Given the description of an element on the screen output the (x, y) to click on. 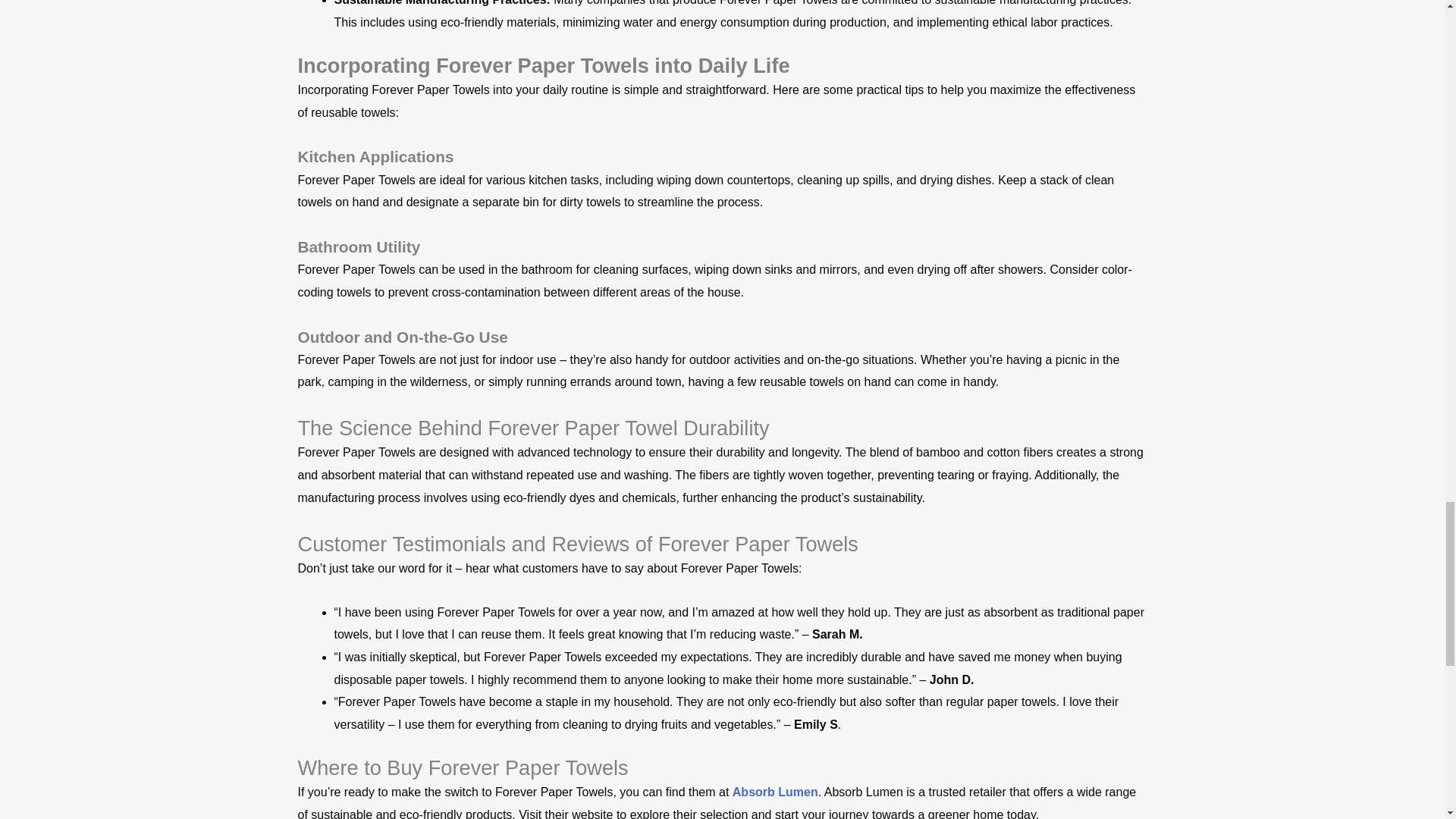
Absorb Lumen (775, 791)
